Given the description of an element on the screen output the (x, y) to click on. 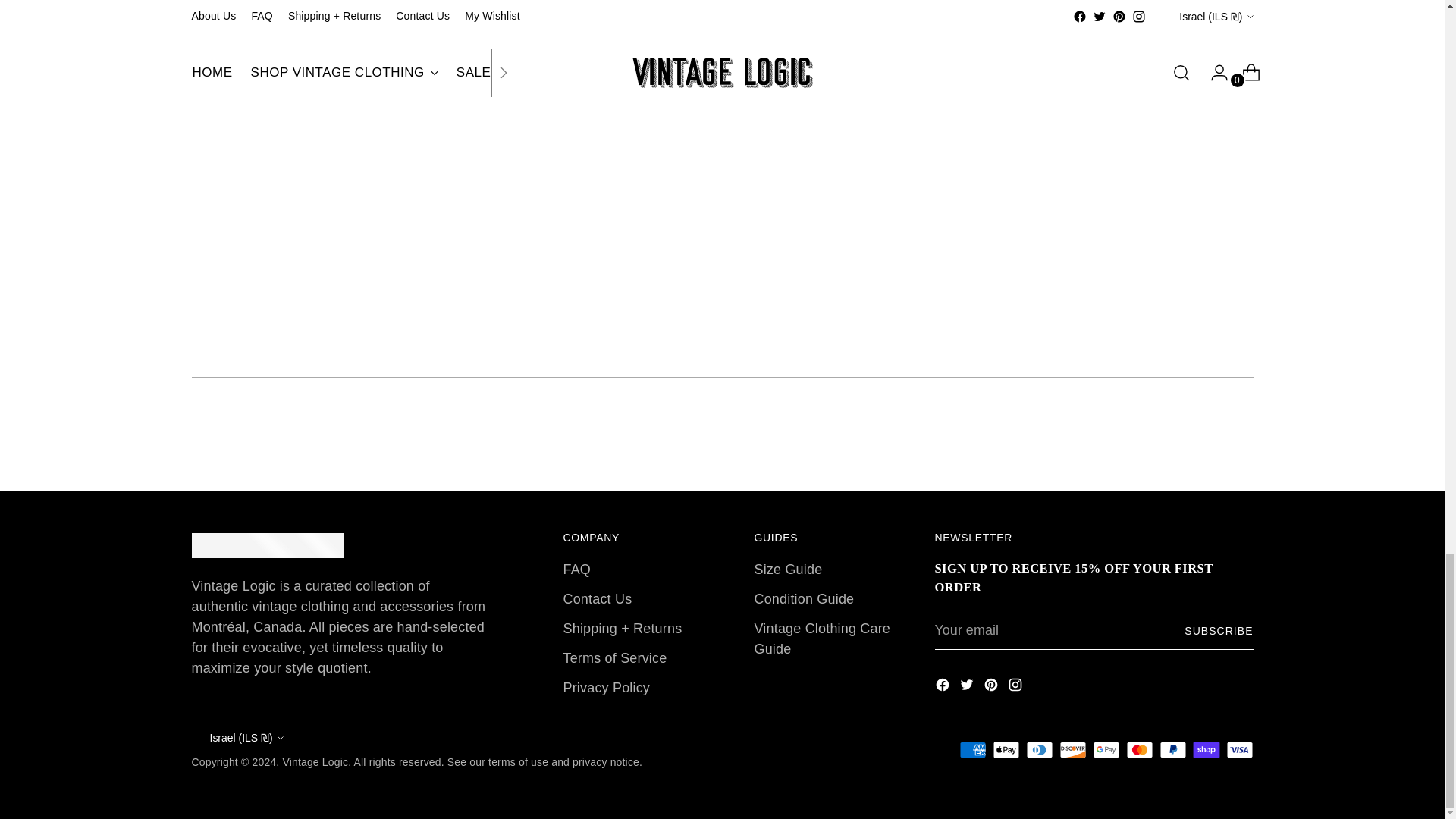
Vintage Logic on Pinterest (991, 687)
Vintage Logic on Instagram (1016, 687)
Vintage Logic on Facebook (943, 687)
Vintage Logic on Twitter (967, 687)
